Given the description of an element on the screen output the (x, y) to click on. 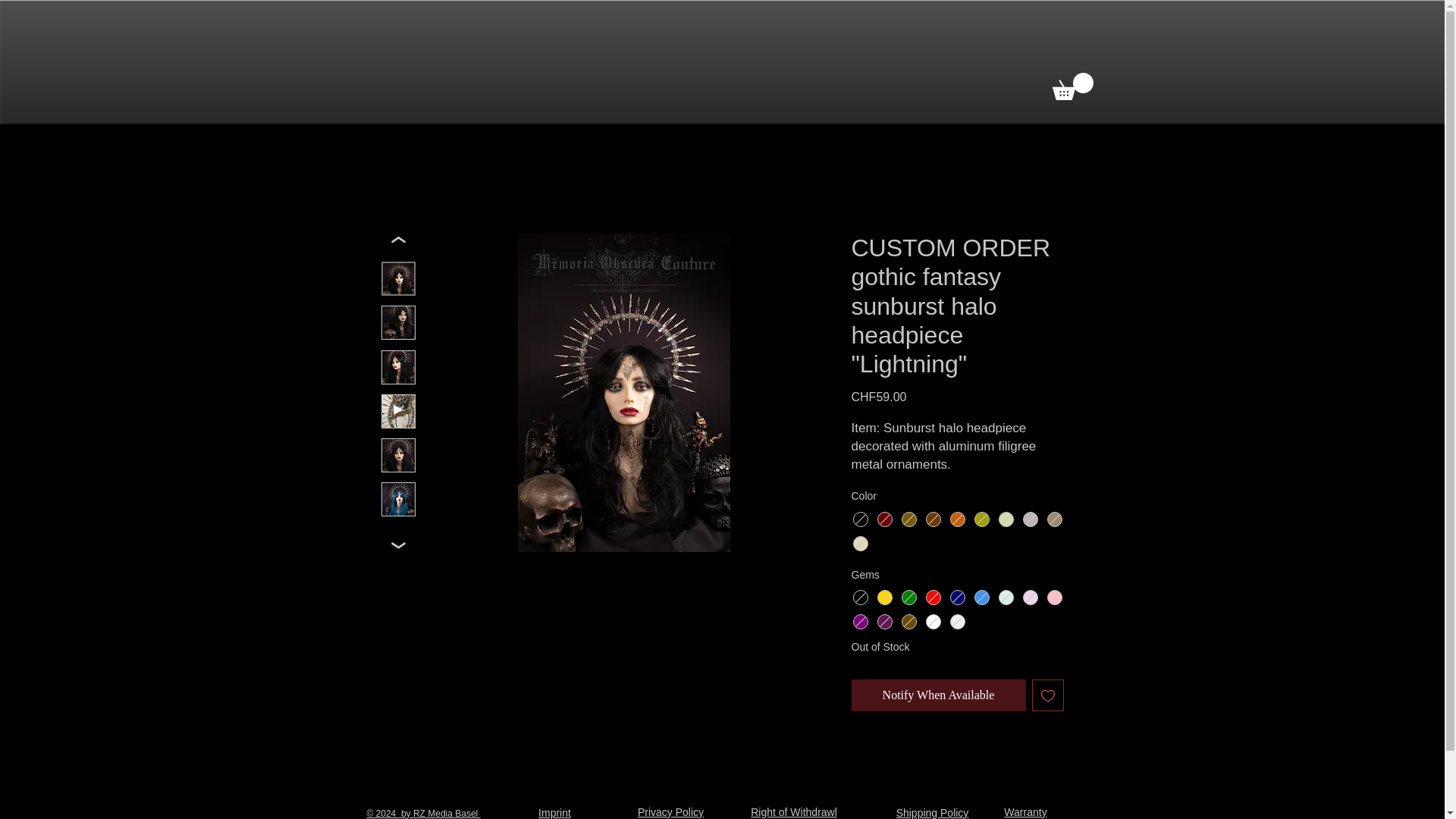
Shipping Policy (932, 812)
Right of Withdrawl (794, 811)
Privacy Policy (670, 811)
Notify When Available (937, 695)
Warranty (1025, 811)
Imprint (554, 812)
